Given the description of an element on the screen output the (x, y) to click on. 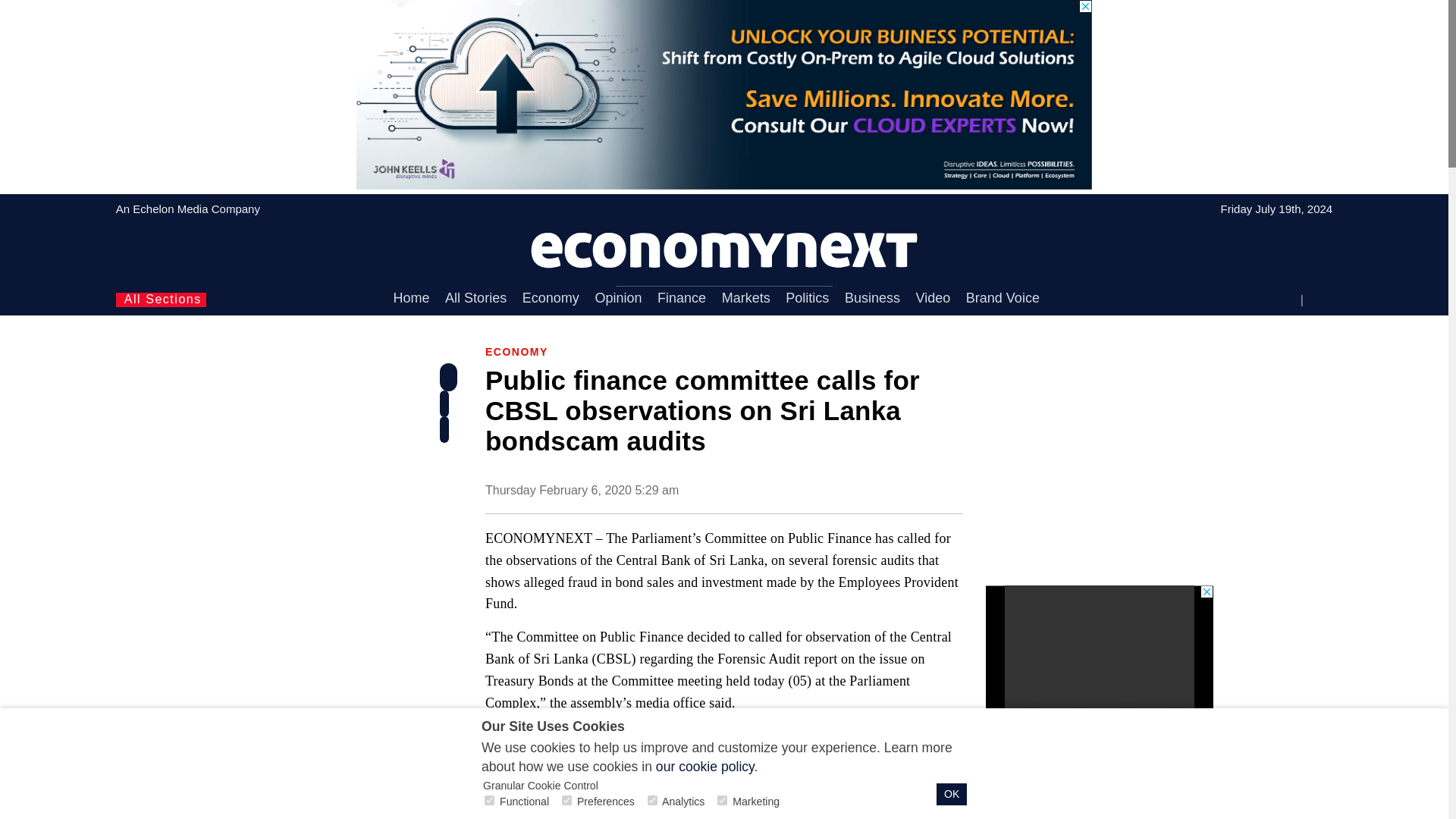
1 (652, 800)
3rd party ad content (1098, 485)
1 (567, 800)
3rd party ad content (1098, 702)
1 (489, 800)
1 (721, 800)
